Given the description of an element on the screen output the (x, y) to click on. 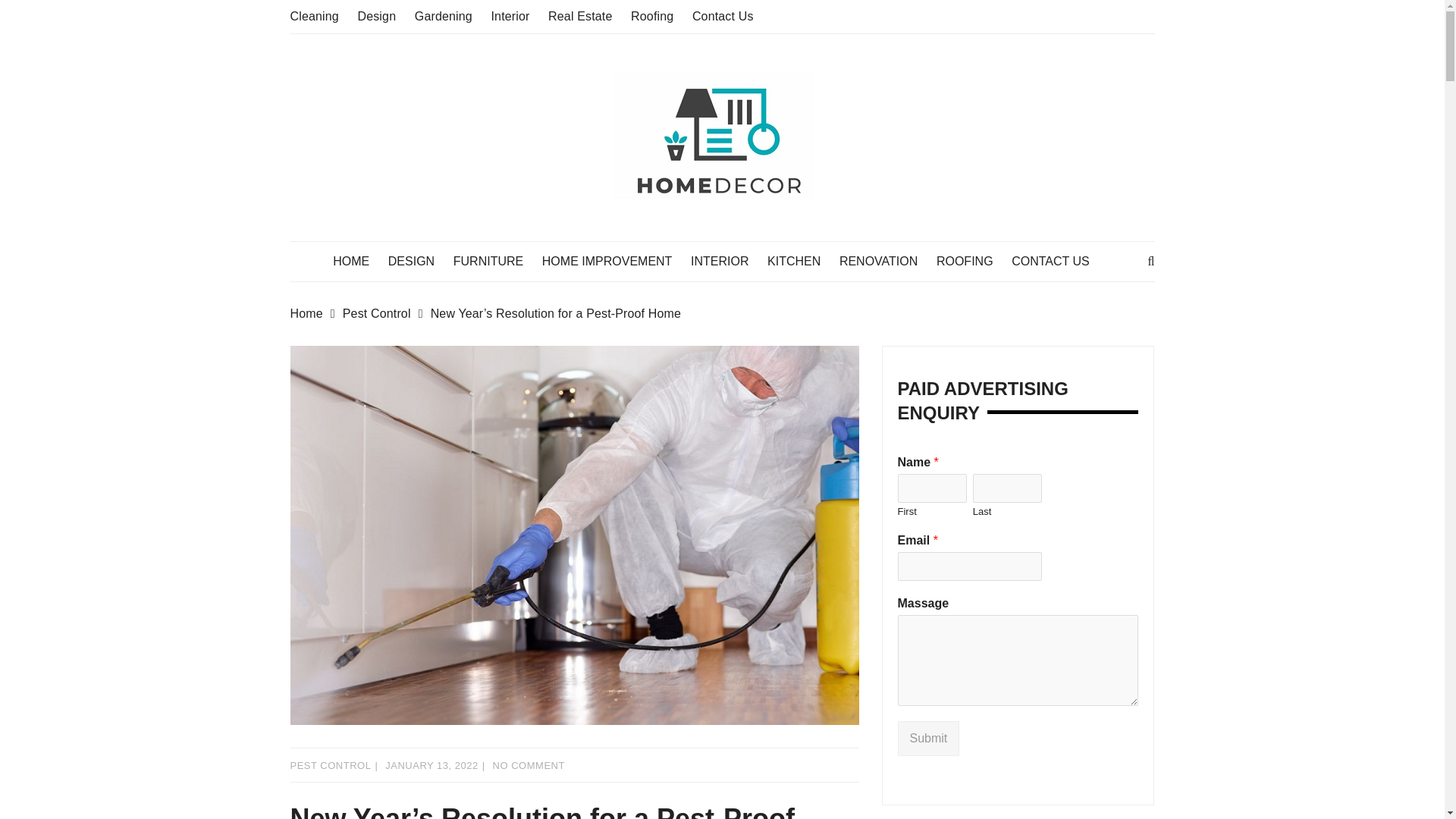
Pest Control (386, 313)
DESIGN (418, 261)
JANUARY 13, 2022 (431, 765)
CONTACT US (1058, 261)
ROOFING (972, 261)
Contact Us (723, 16)
RENOVATION (886, 261)
KITCHEN (801, 261)
HOME (358, 261)
INTERIOR (726, 261)
